Given the description of an element on the screen output the (x, y) to click on. 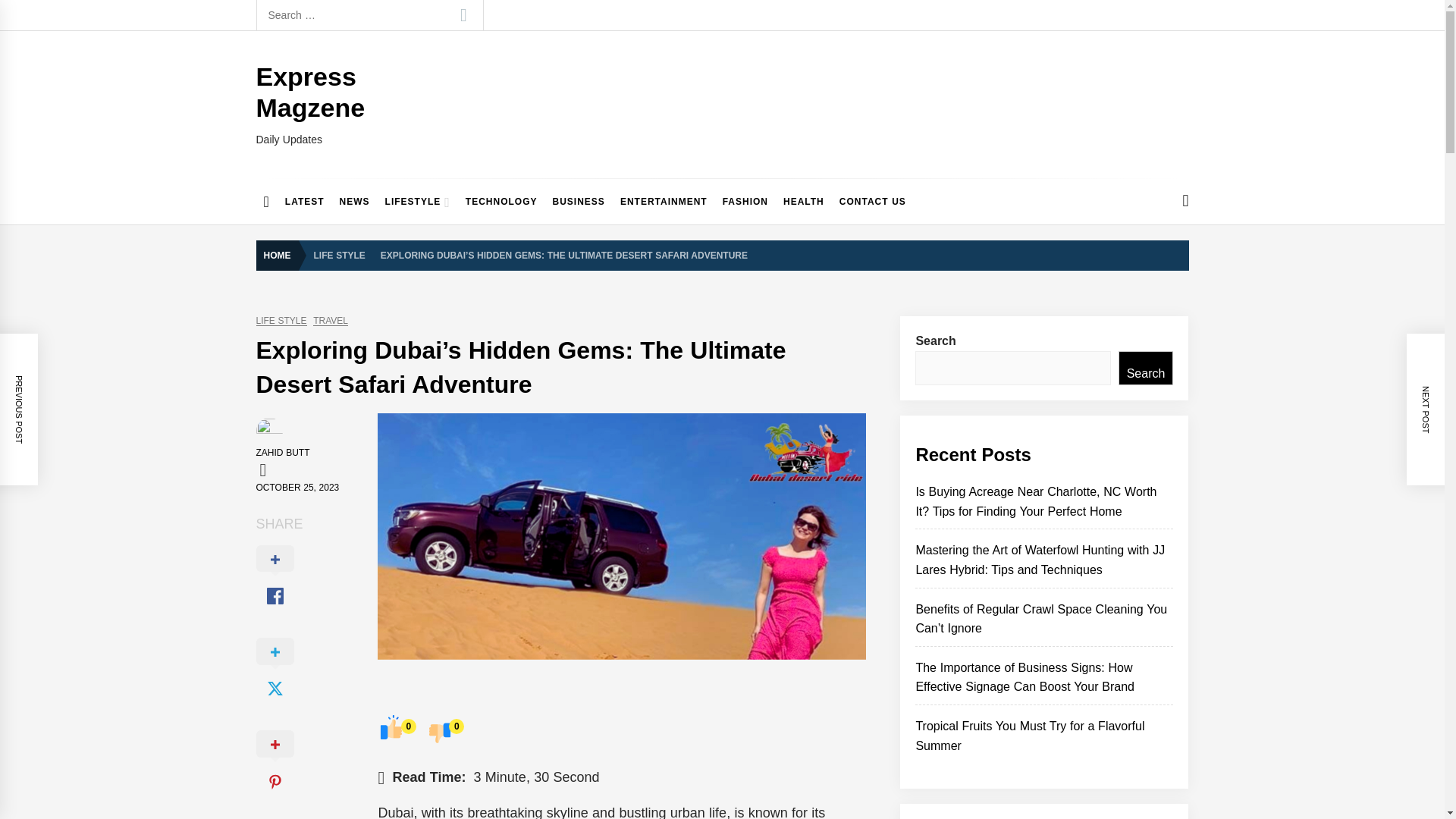
Express Magzene (310, 92)
LIFESTYLE (417, 201)
FASHION (745, 201)
OCTOBER 25, 2023 (297, 487)
HOME (280, 255)
BUSINESS (578, 201)
Search (462, 15)
TRAVEL (330, 320)
LIFE STYLE (281, 320)
HEALTH (803, 201)
